Given the description of an element on the screen output the (x, y) to click on. 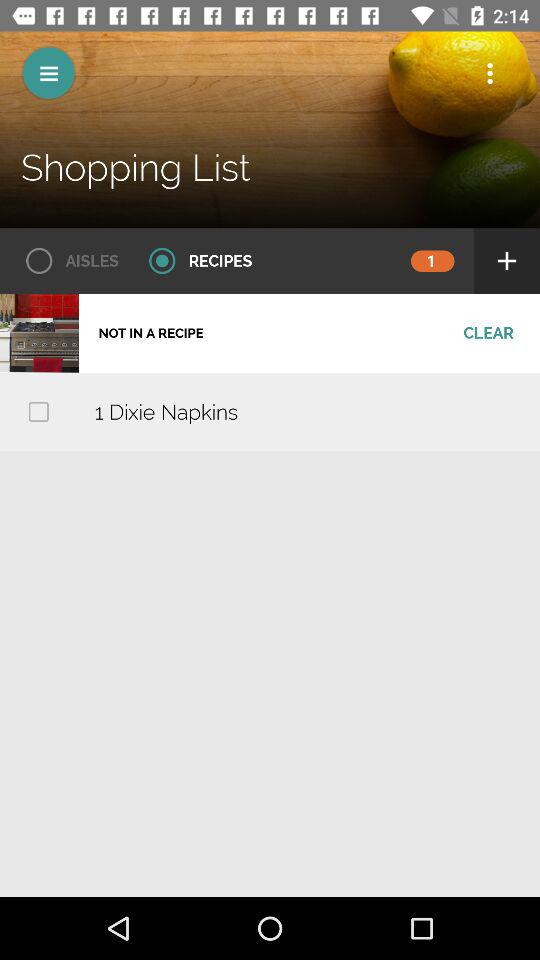
choose icon to the left of the 1 dixie napkins (38, 411)
